Given the description of an element on the screen output the (x, y) to click on. 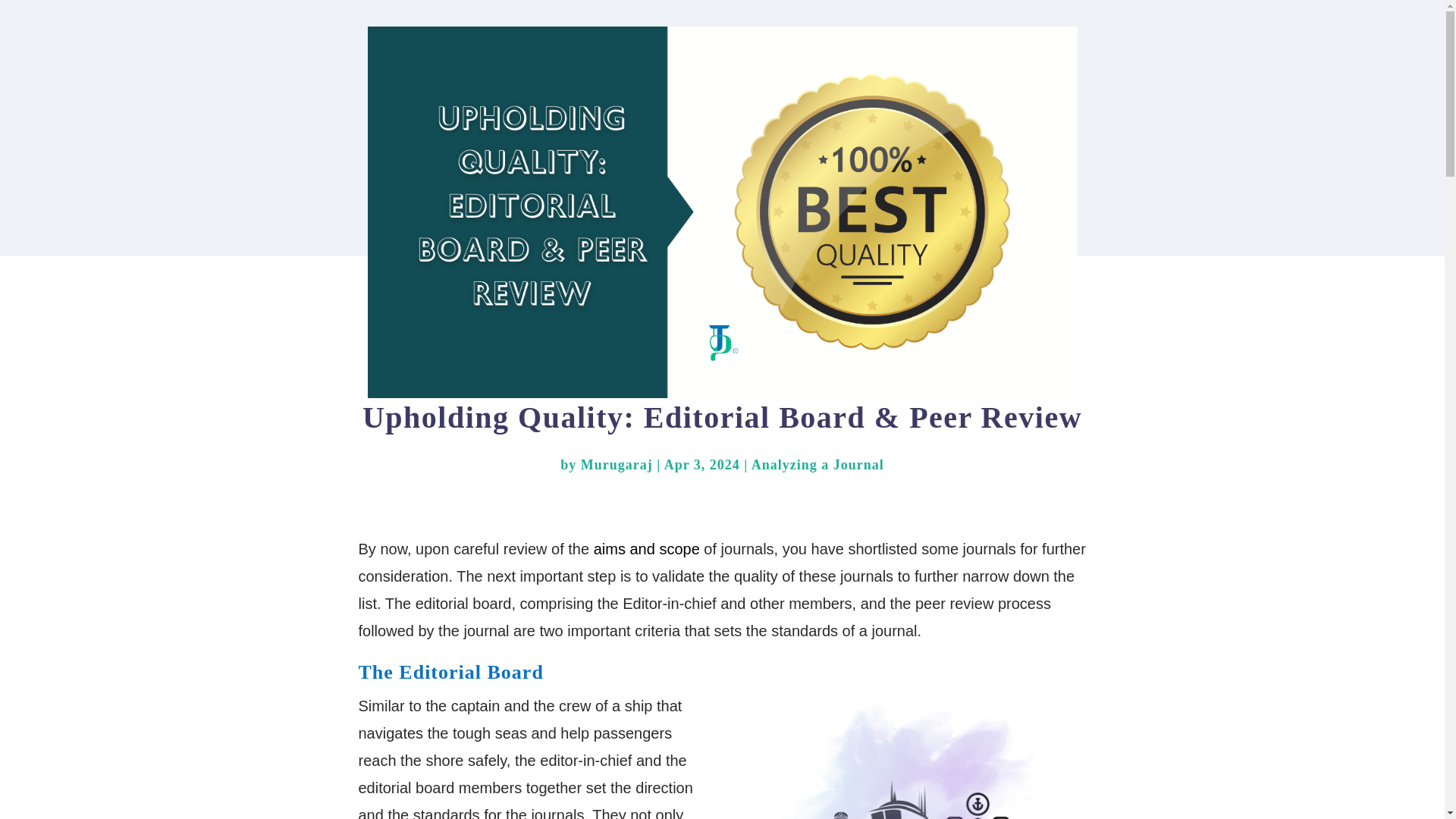
aims and scope (647, 548)
Posts by Murugaraj (616, 464)
Murugaraj (616, 464)
Analyzing a Journal (817, 464)
